Given the description of an element on the screen output the (x, y) to click on. 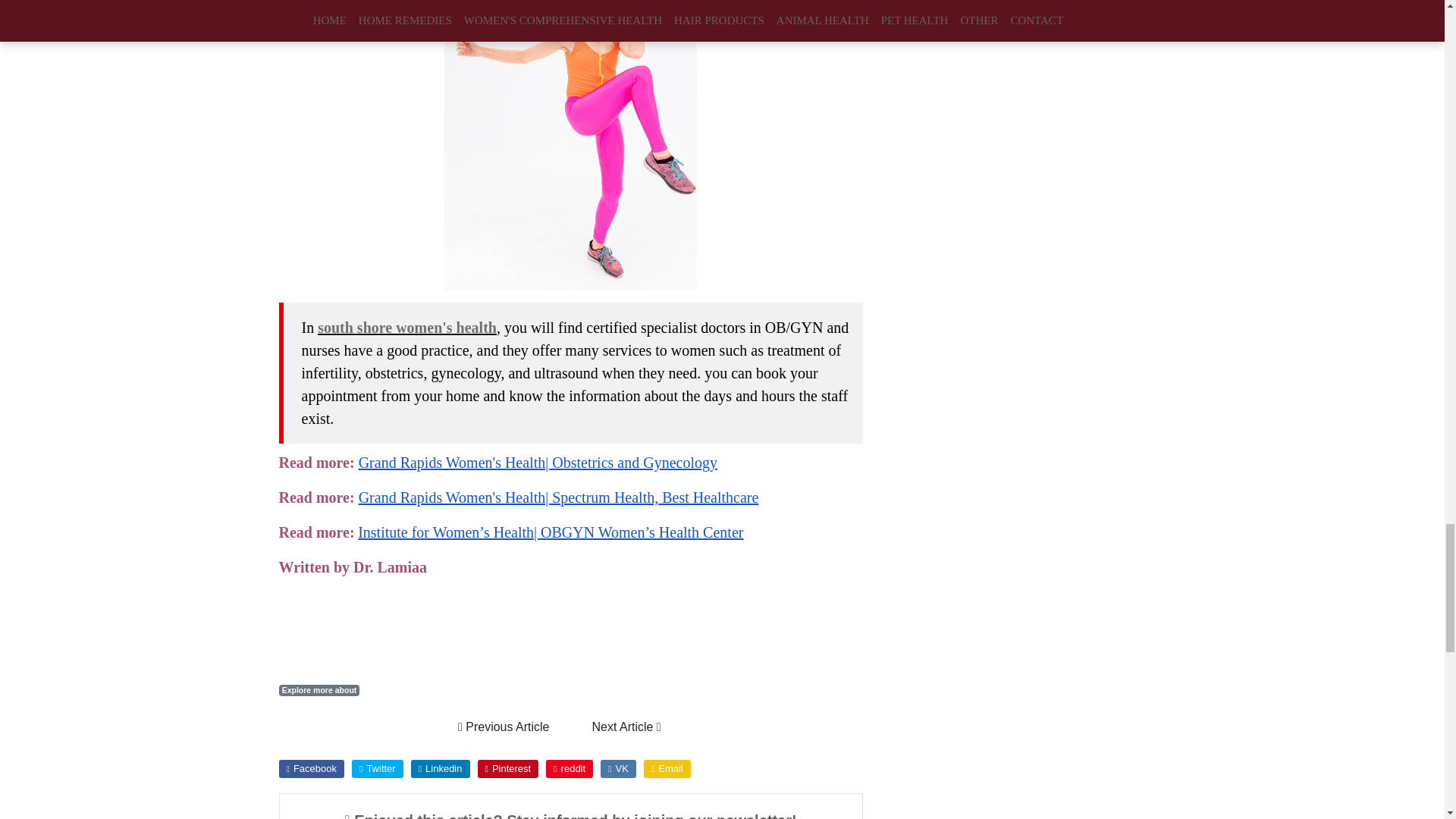
south shore women's health (406, 327)
Previous Article (503, 727)
via email (666, 769)
